Given the description of an element on the screen output the (x, y) to click on. 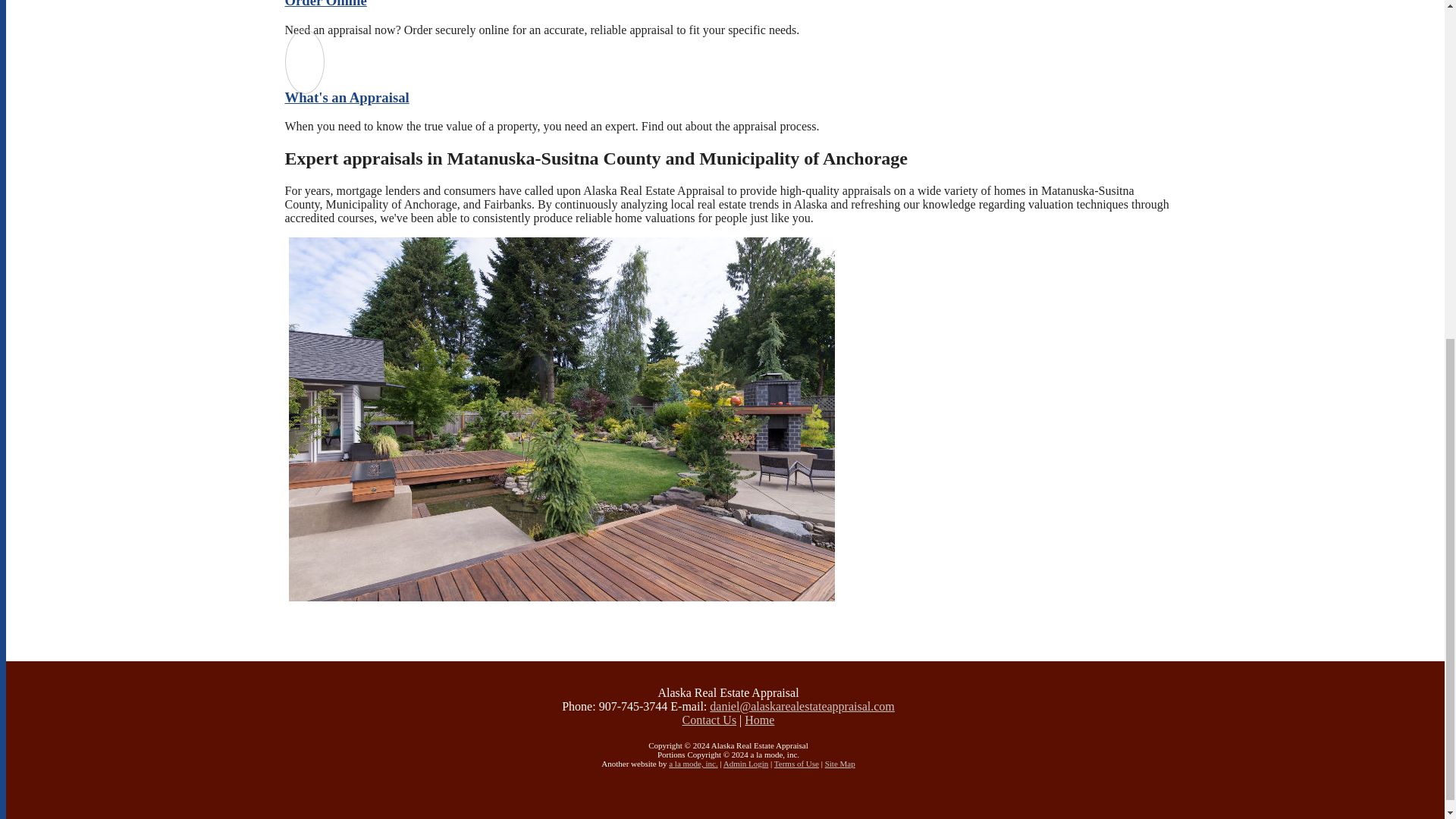
Order Online (325, 4)
What's an Appraisal (347, 97)
